Given the description of an element on the screen output the (x, y) to click on. 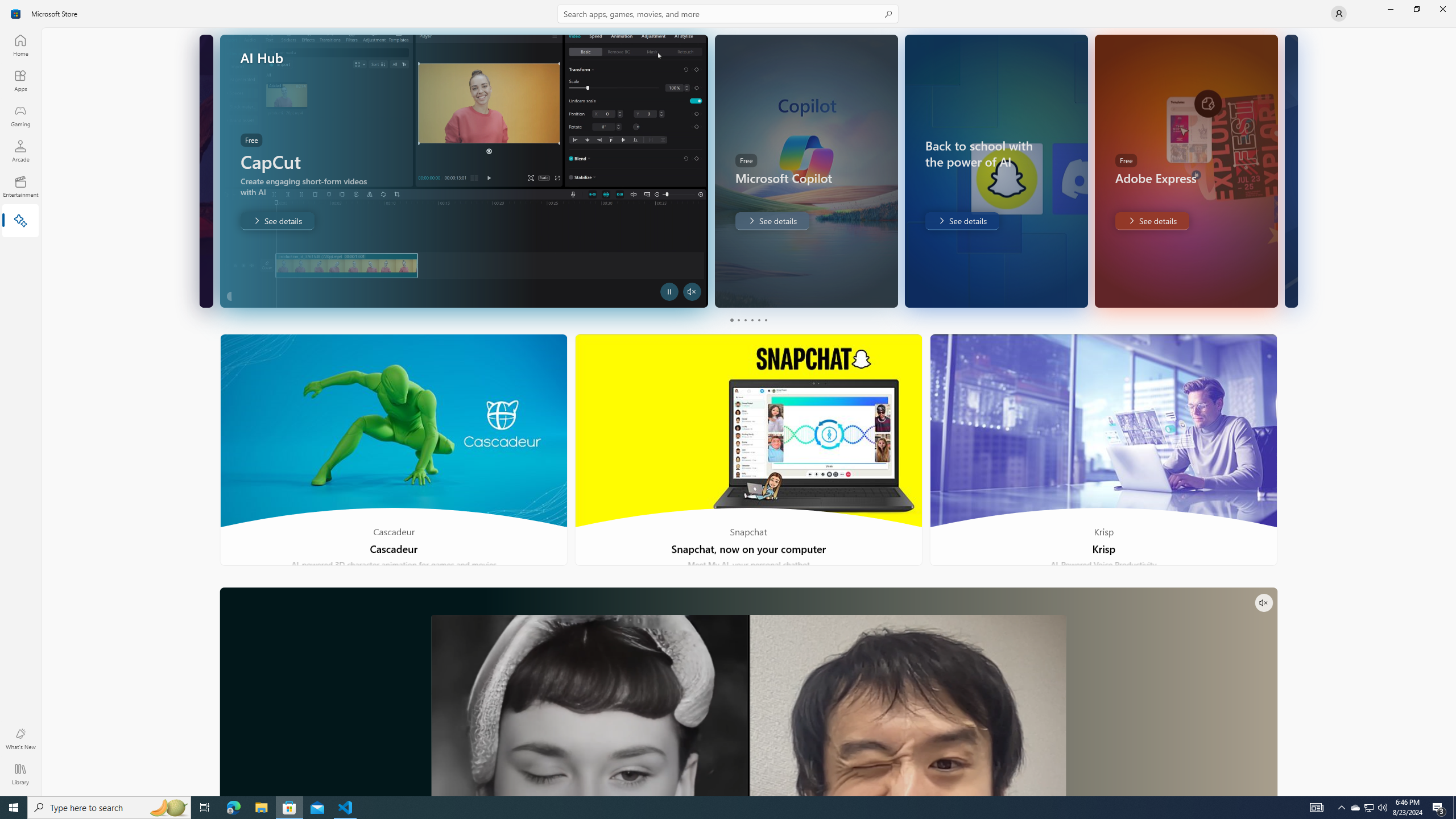
Krisp (1102, 449)
Pause Trailer (668, 291)
Restore Microsoft Store (1416, 9)
Arcade (20, 150)
Close Microsoft Store (1442, 9)
Cascadeur (393, 449)
AutomationID: PosterImage (747, 705)
Snapchat, now on your computer (749, 449)
Search (727, 13)
Apps (20, 80)
Page 3 (744, 319)
Class: Image (15, 13)
AutomationID: NavigationControl (728, 398)
